Given the description of an element on the screen output the (x, y) to click on. 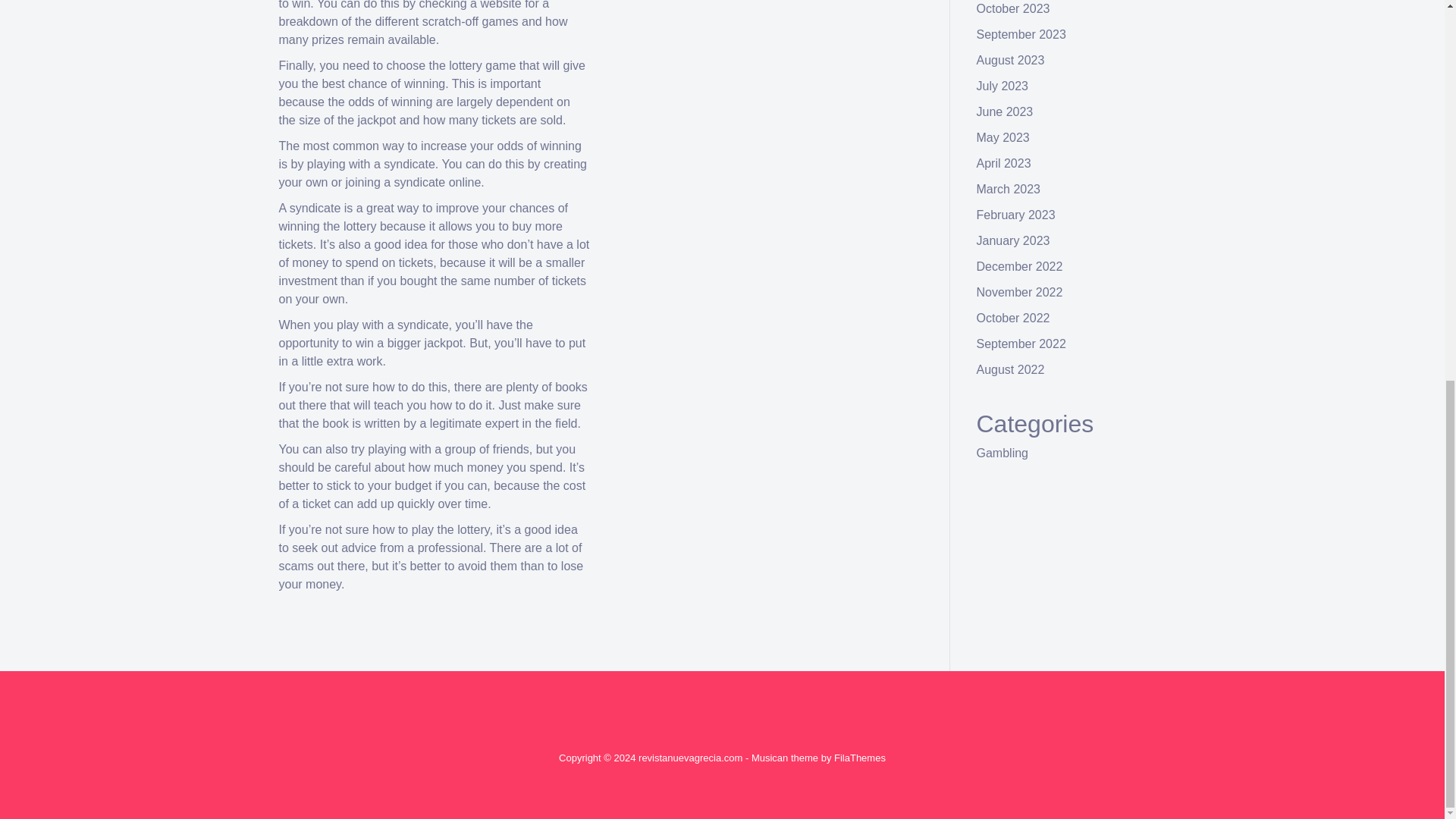
April 2023 (1003, 163)
August 2022 (1010, 369)
revistanuevagrecia.com (690, 757)
September 2023 (1020, 33)
October 2023 (1012, 8)
August 2023 (1010, 60)
October 2022 (1012, 318)
November 2022 (1019, 291)
January 2023 (1012, 240)
May 2023 (1002, 137)
